Given the description of an element on the screen output the (x, y) to click on. 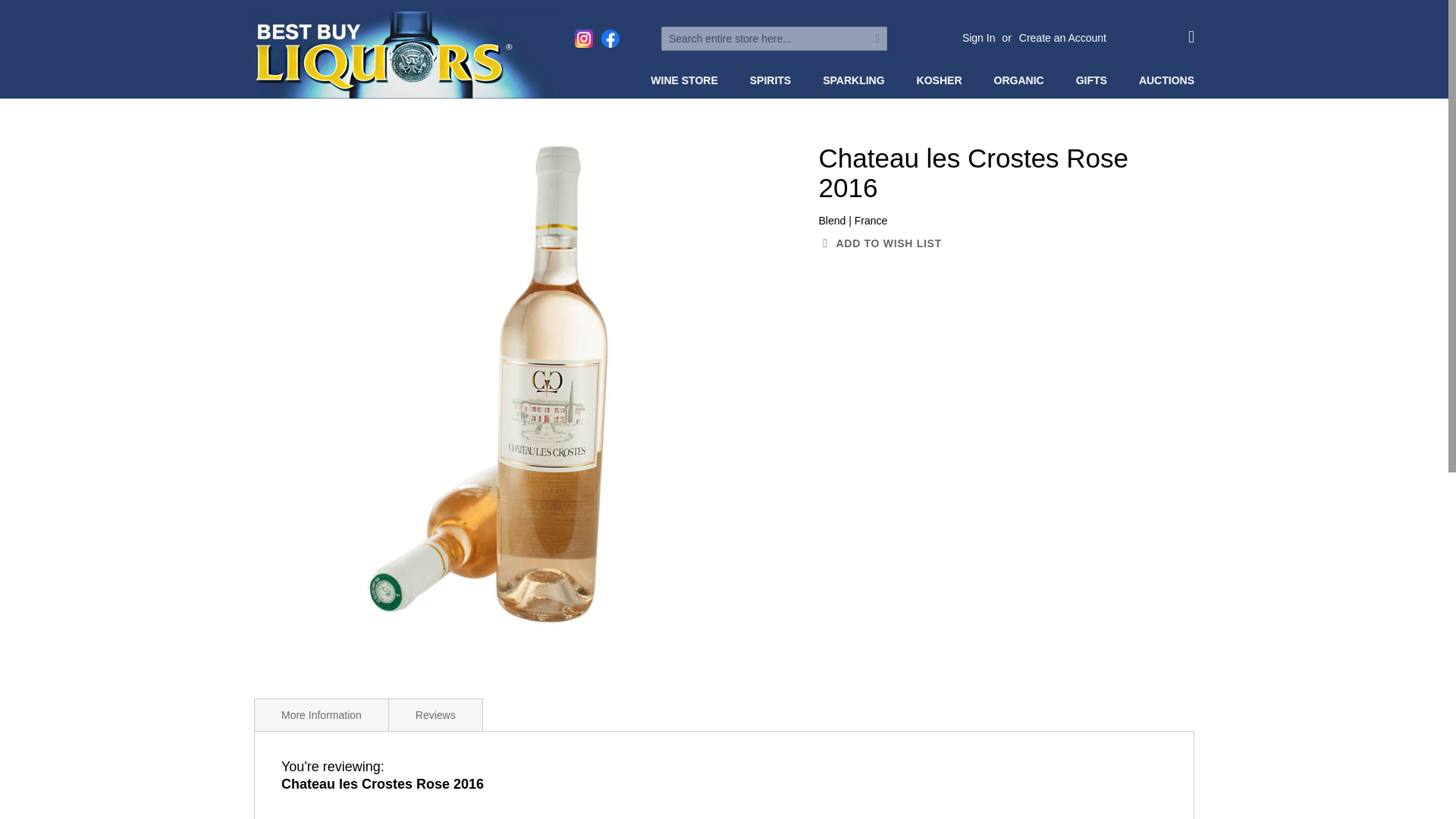
Best Buy Liquors on Instagram (583, 38)
Sign In (978, 38)
WINE STORE (687, 80)
SPIRITS (773, 80)
Best Buy Liquors on Facebook (610, 38)
Best Buy Liquors (406, 54)
Create an Account (1062, 38)
